Given the description of an element on the screen output the (x, y) to click on. 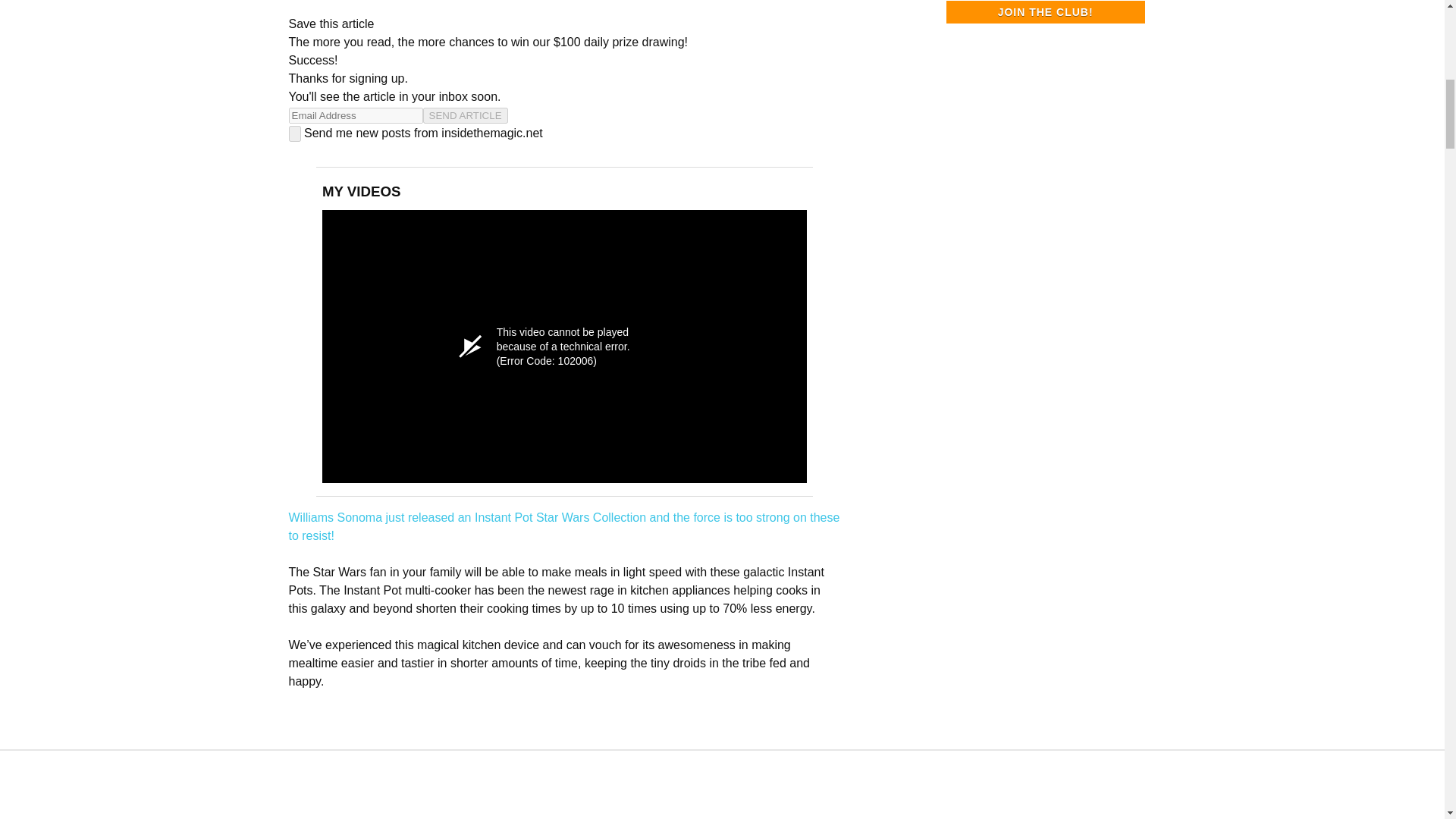
Join The Club! (1045, 11)
